Given the description of an element on the screen output the (x, y) to click on. 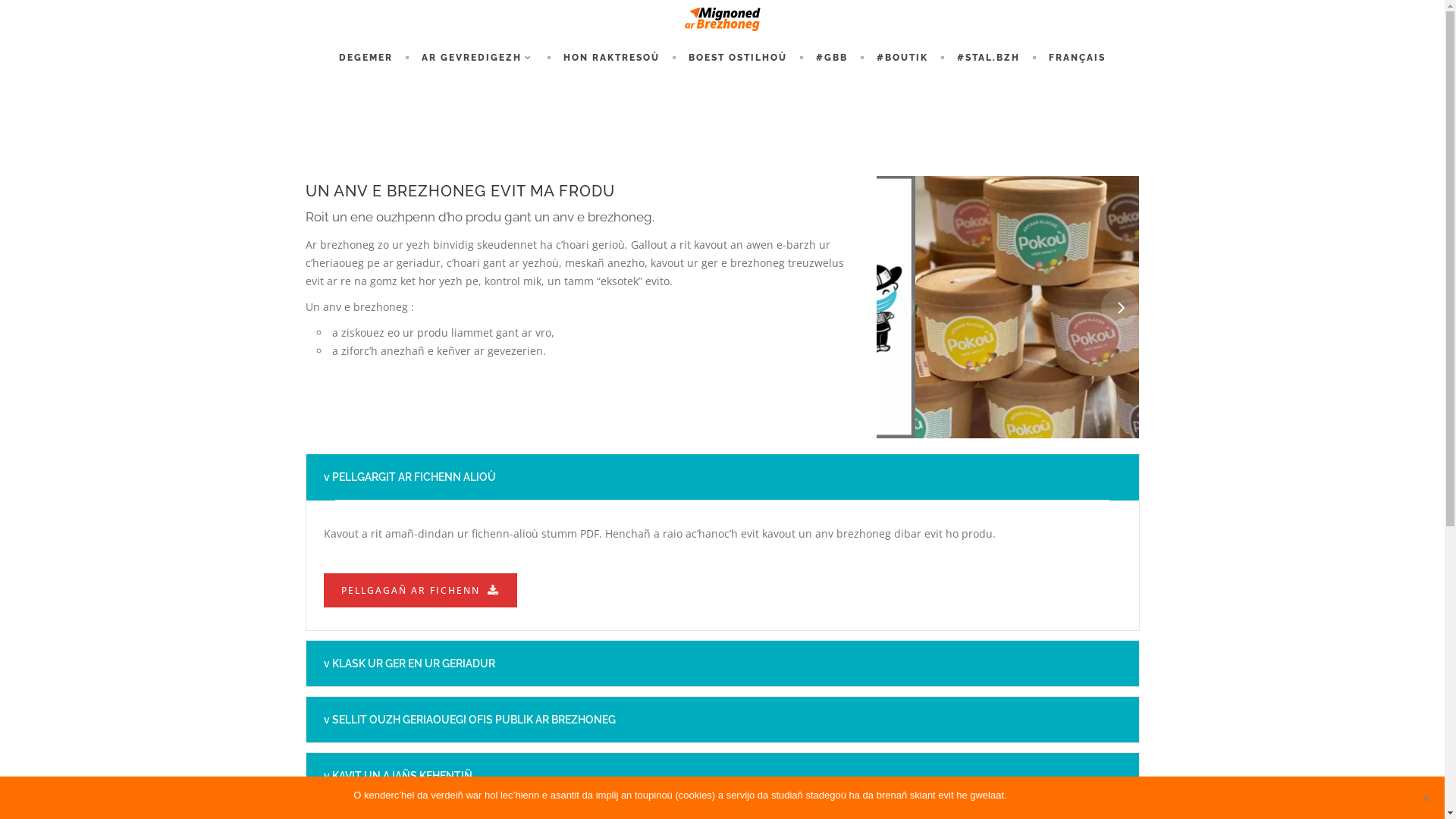
#GBB Element type: text (831, 57)
#STAL.BZH Element type: text (988, 57)
AR GEVREDIGEZH Element type: text (478, 57)
#BOUTIK Element type: text (902, 57)
DEGEMER Element type: text (365, 57)
